Given the description of an element on the screen output the (x, y) to click on. 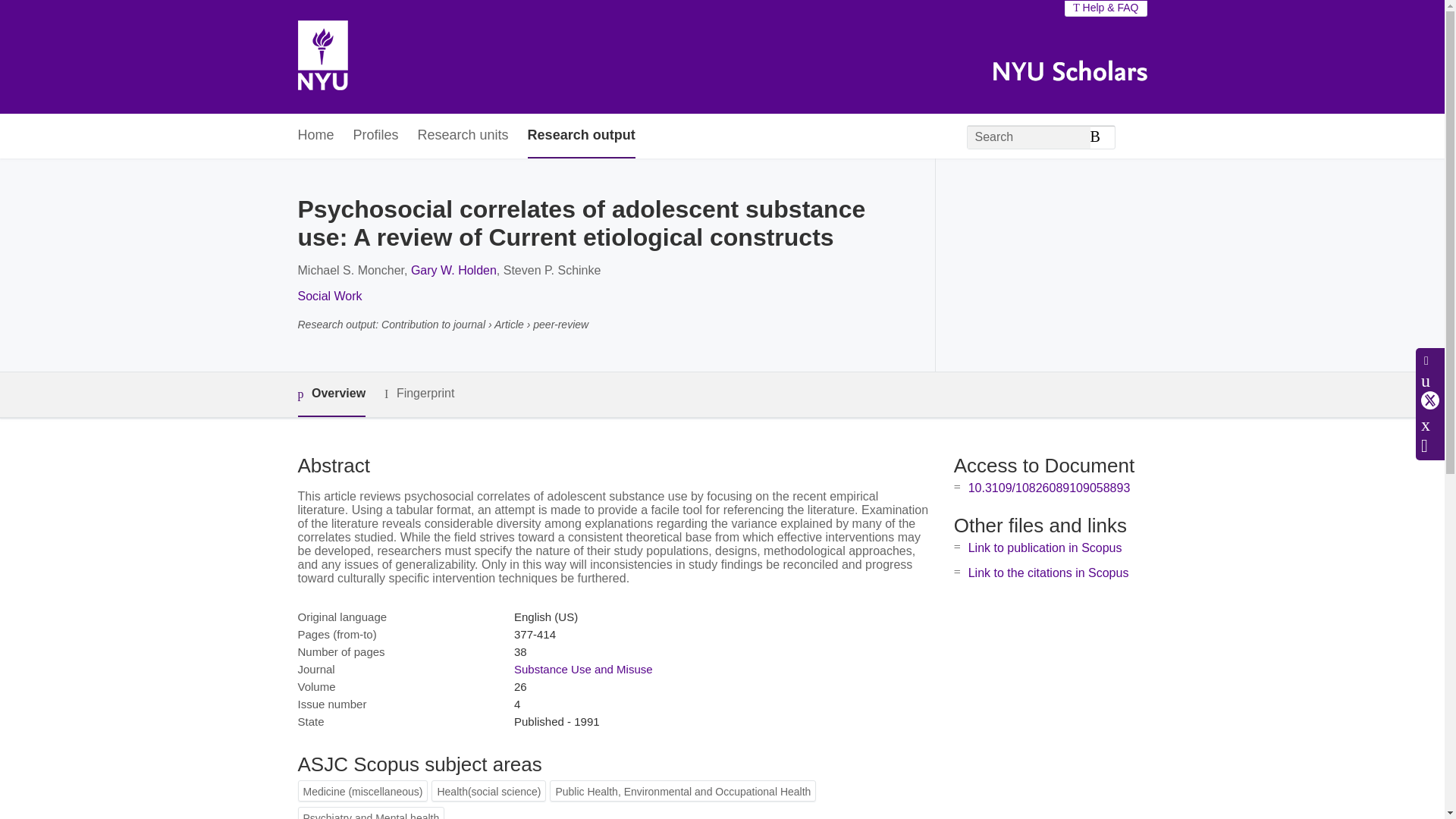
Research units (462, 135)
Profiles (375, 135)
Substance Use and Misuse (582, 668)
Fingerprint (419, 393)
Link to the citations in Scopus (1048, 572)
Research output (580, 135)
Link to publication in Scopus (1045, 547)
Social Work (329, 295)
Gary W. Holden (453, 269)
Overview (331, 394)
